Given the description of an element on the screen output the (x, y) to click on. 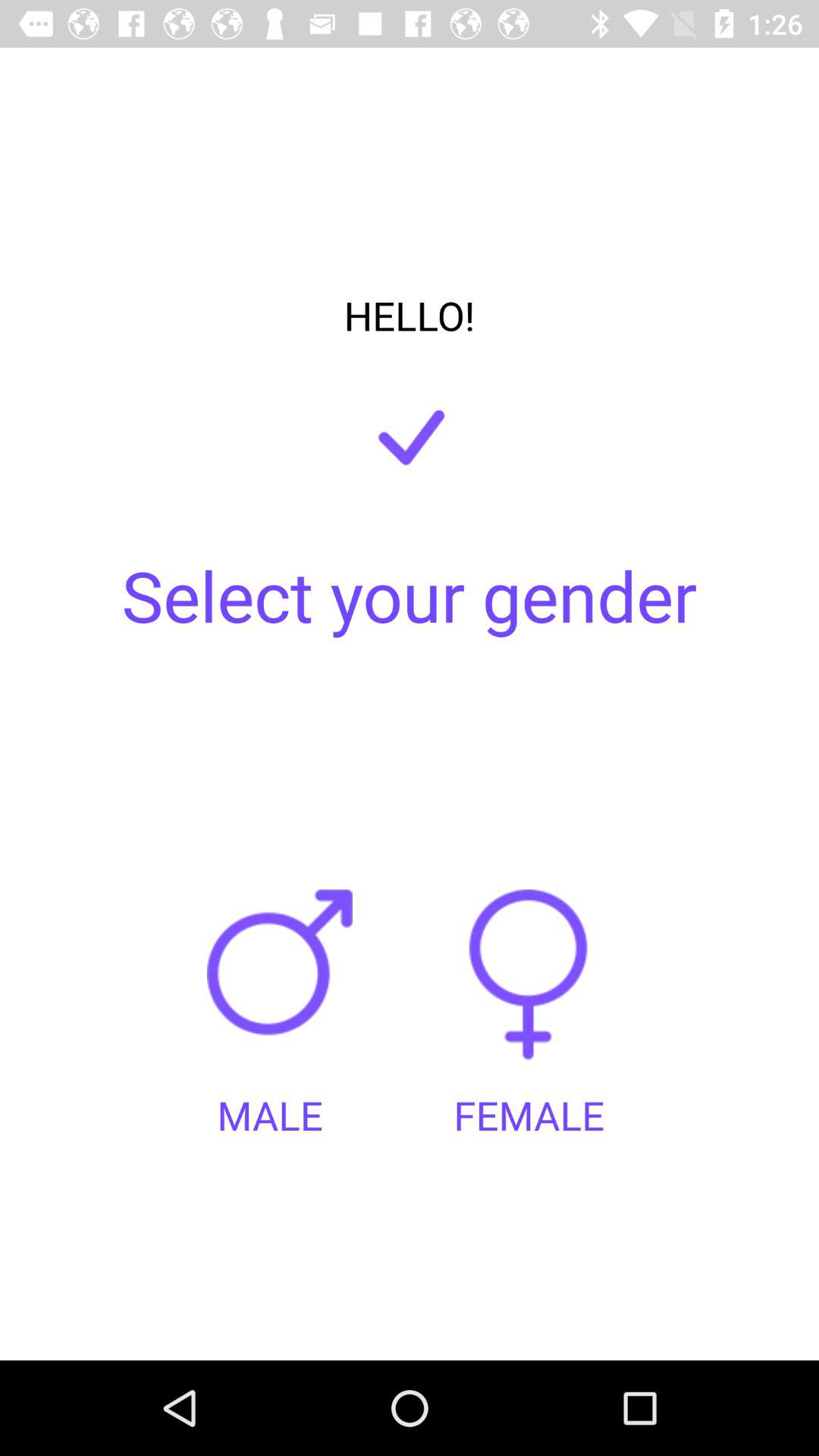
click icon below select your gender item (528, 988)
